Given the description of an element on the screen output the (x, y) to click on. 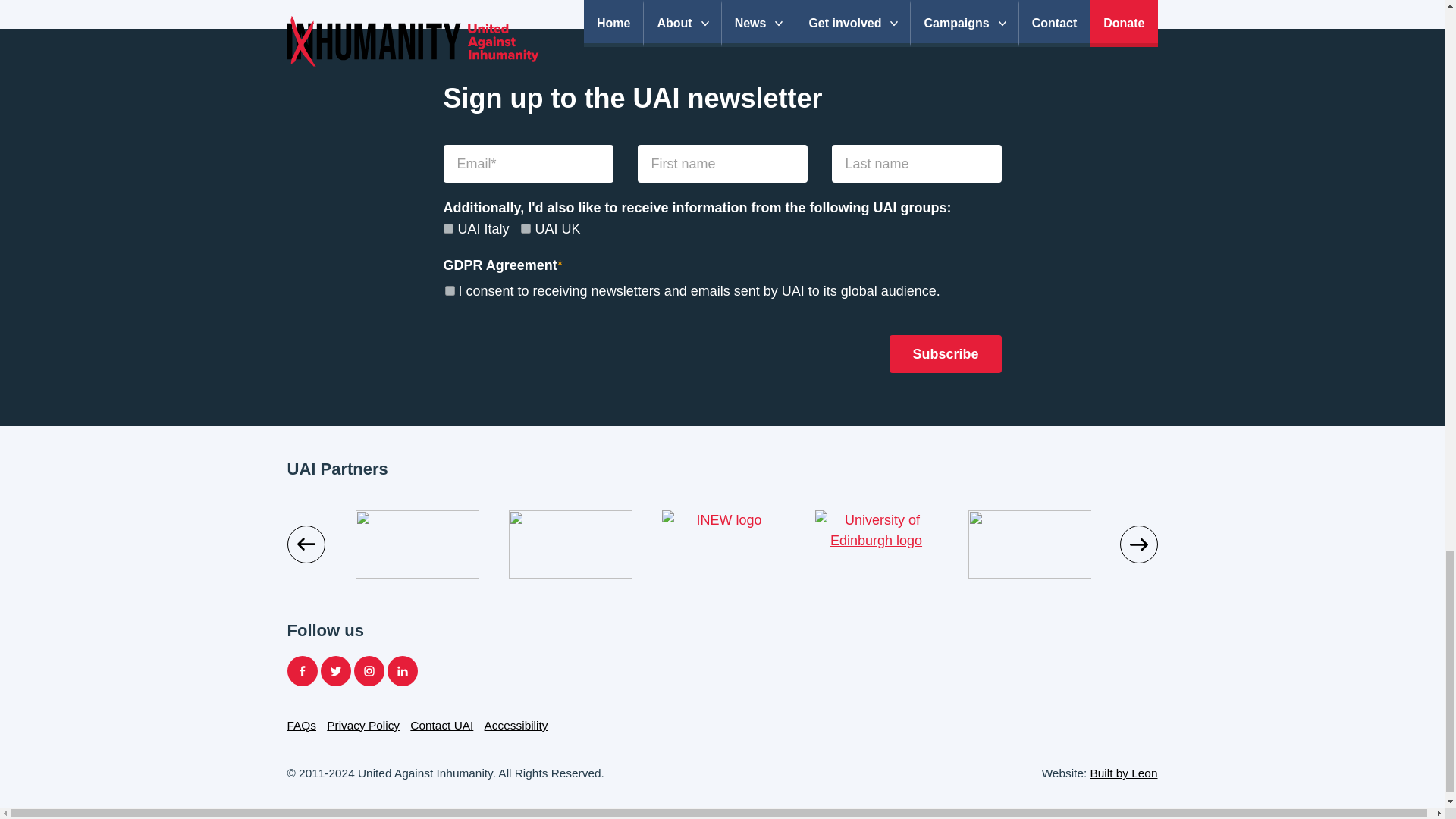
Company logo (416, 544)
Company logo (722, 544)
Y (449, 290)
Company logo (875, 544)
Company logo (569, 544)
4 (526, 228)
2 (447, 228)
Company logo (262, 544)
Subscribe (945, 353)
